Given the description of an element on the screen output the (x, y) to click on. 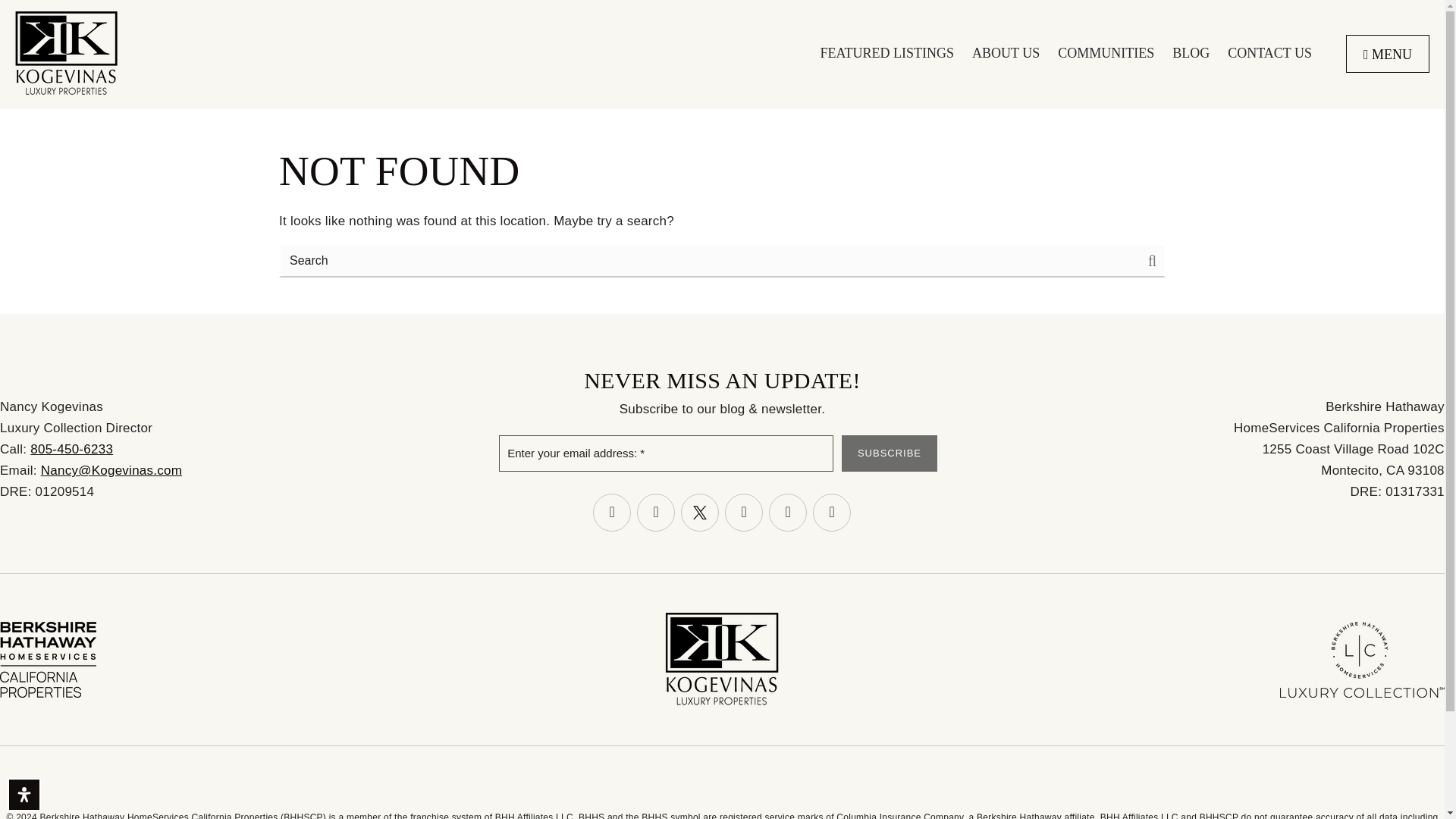
Call us at: 805-450-6233 (71, 449)
Communities (1105, 53)
MENU (1387, 54)
CONTACT US (1269, 53)
Watch our videos on YouTube (743, 512)
BLOG (1190, 53)
COMMUNITIES (1105, 53)
Watch our videos on Instagram (656, 512)
ABOUT US (1005, 53)
Follow us on Pinterest (831, 512)
